Given the description of an element on the screen output the (x, y) to click on. 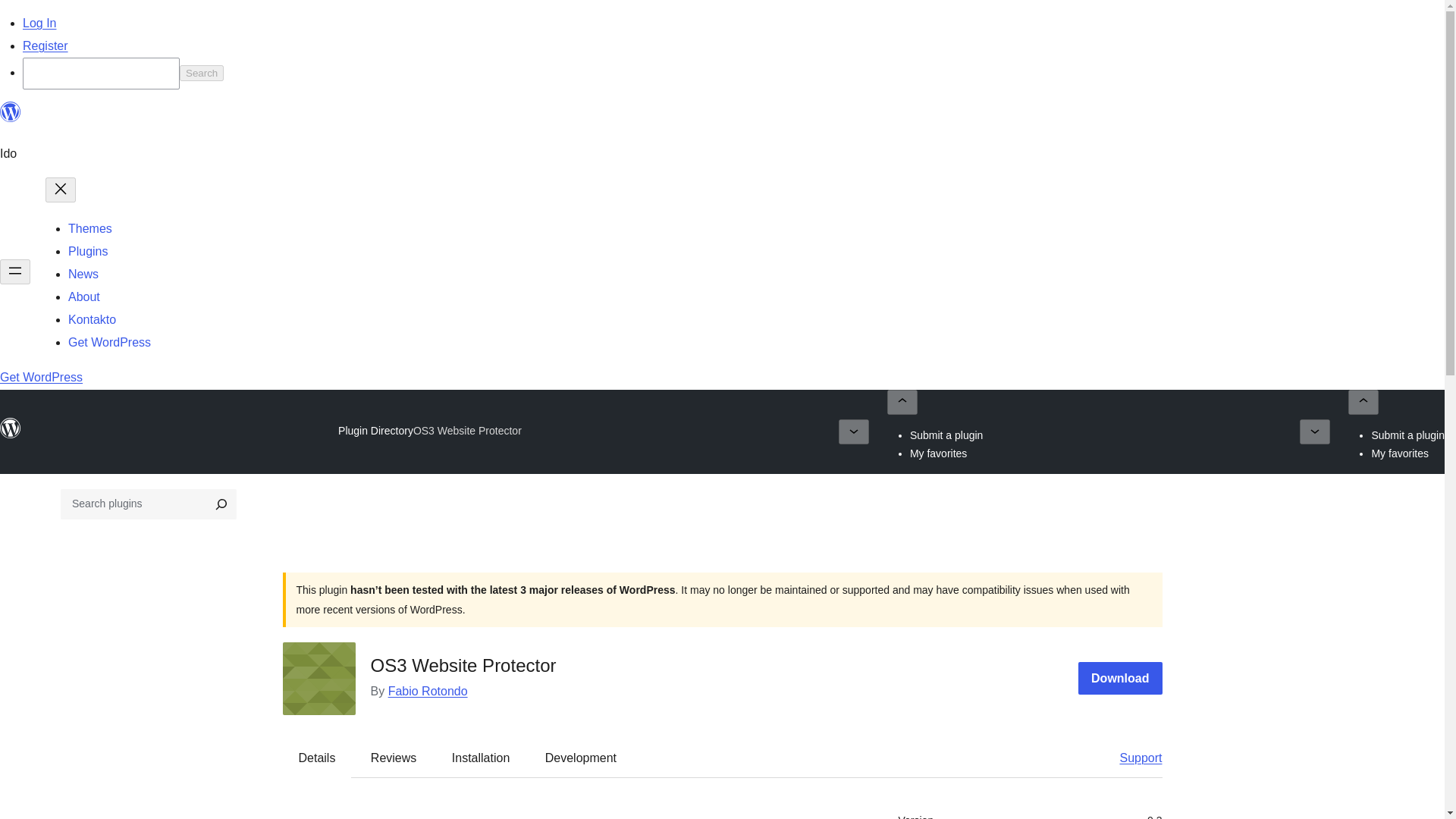
About (84, 296)
Register (45, 45)
Submit a plugin (947, 435)
Plugins (87, 250)
Log In (39, 22)
Plugin Directory (375, 430)
Get WordPress (109, 341)
My favorites (938, 453)
Search (201, 73)
OS3 Website Protector (467, 431)
WordPress.org (10, 118)
Reviews (392, 757)
WordPress.org (10, 111)
Development (580, 757)
WordPress.org (10, 435)
